Given the description of an element on the screen output the (x, y) to click on. 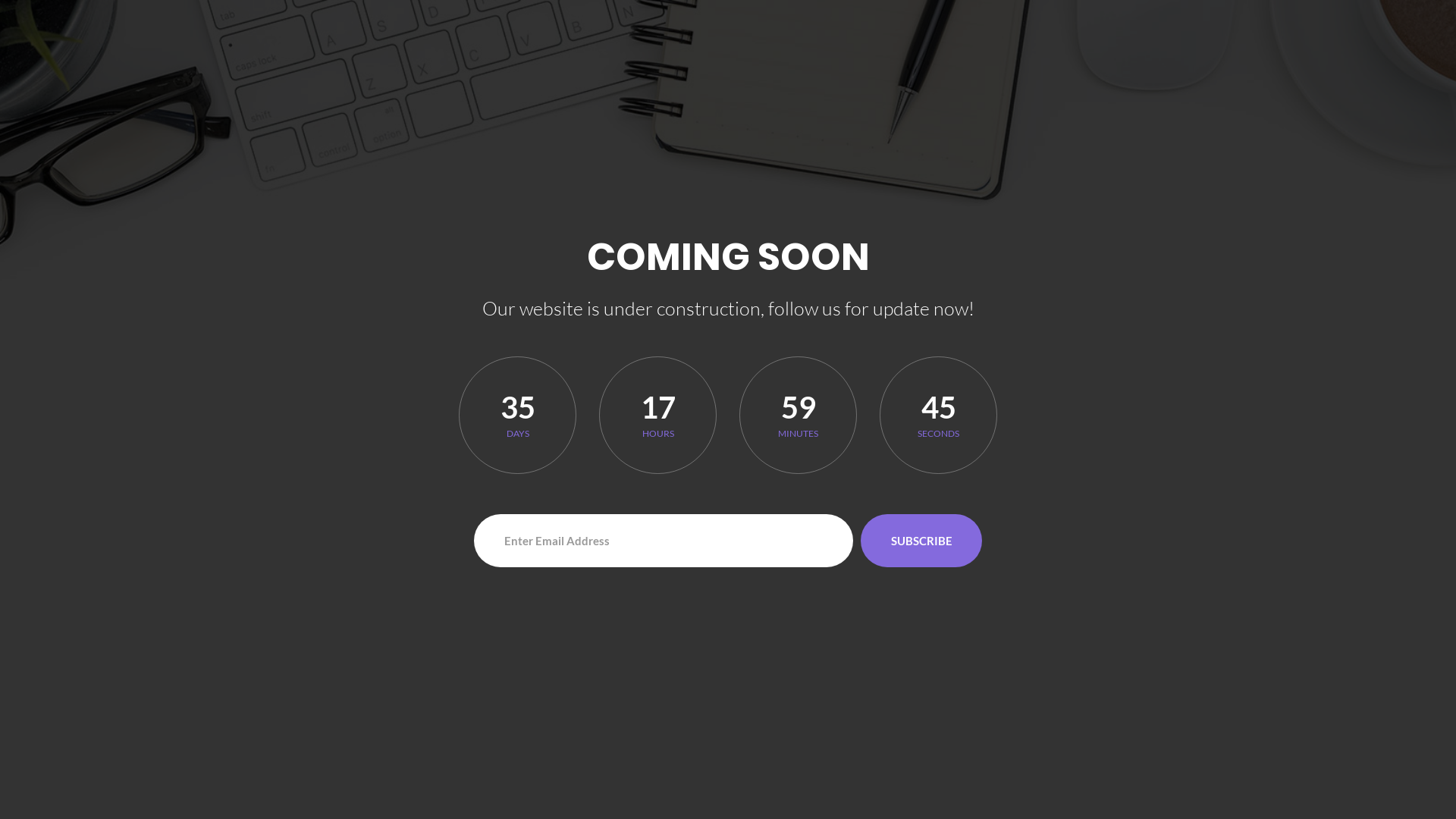
SUBSCRIBE Element type: text (921, 540)
